Given the description of an element on the screen output the (x, y) to click on. 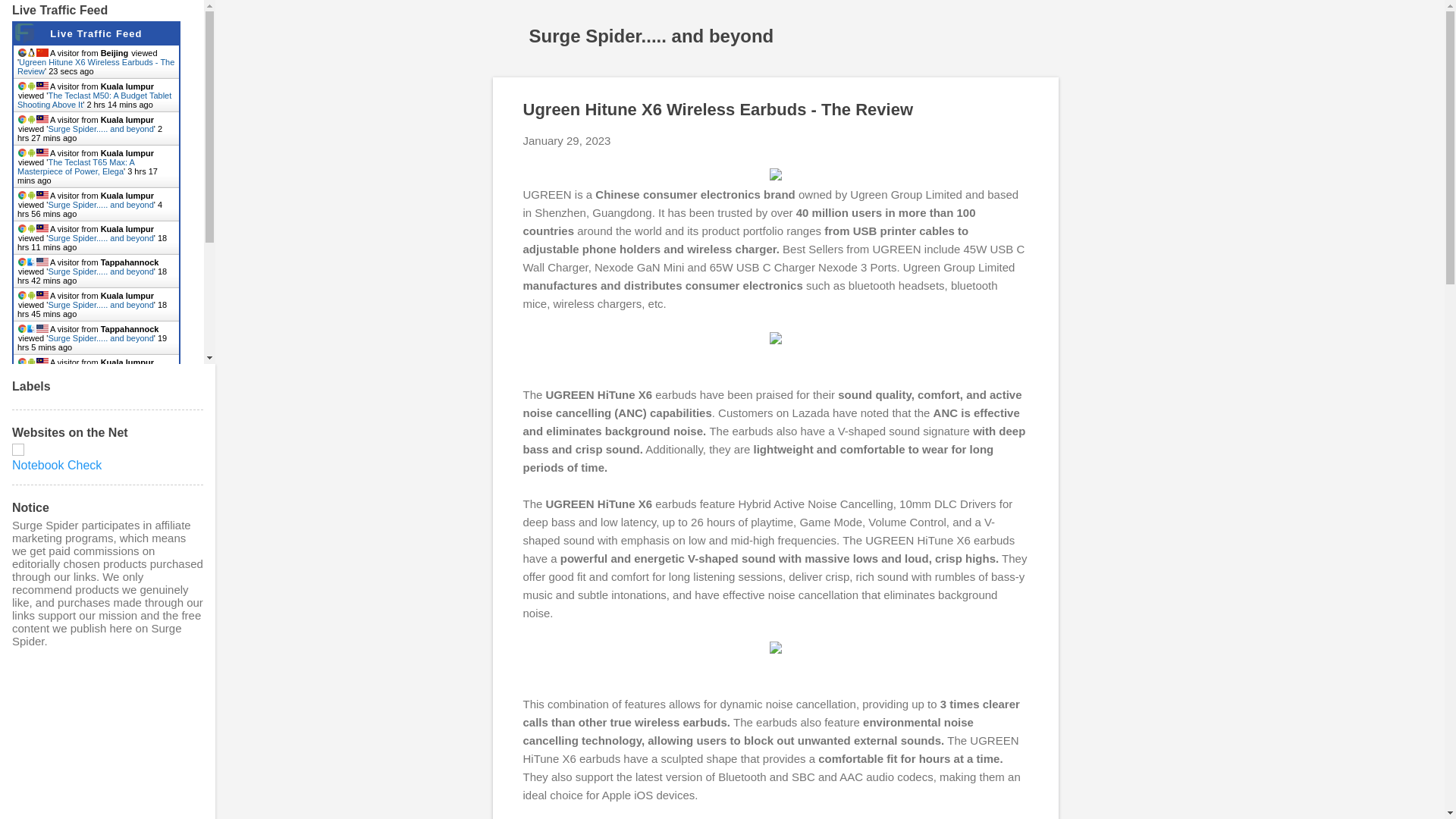
Surge Spider..... and beyond (651, 35)
January 29, 2023 (566, 140)
permanent link (566, 140)
Search (29, 18)
